Given the description of an element on the screen output the (x, y) to click on. 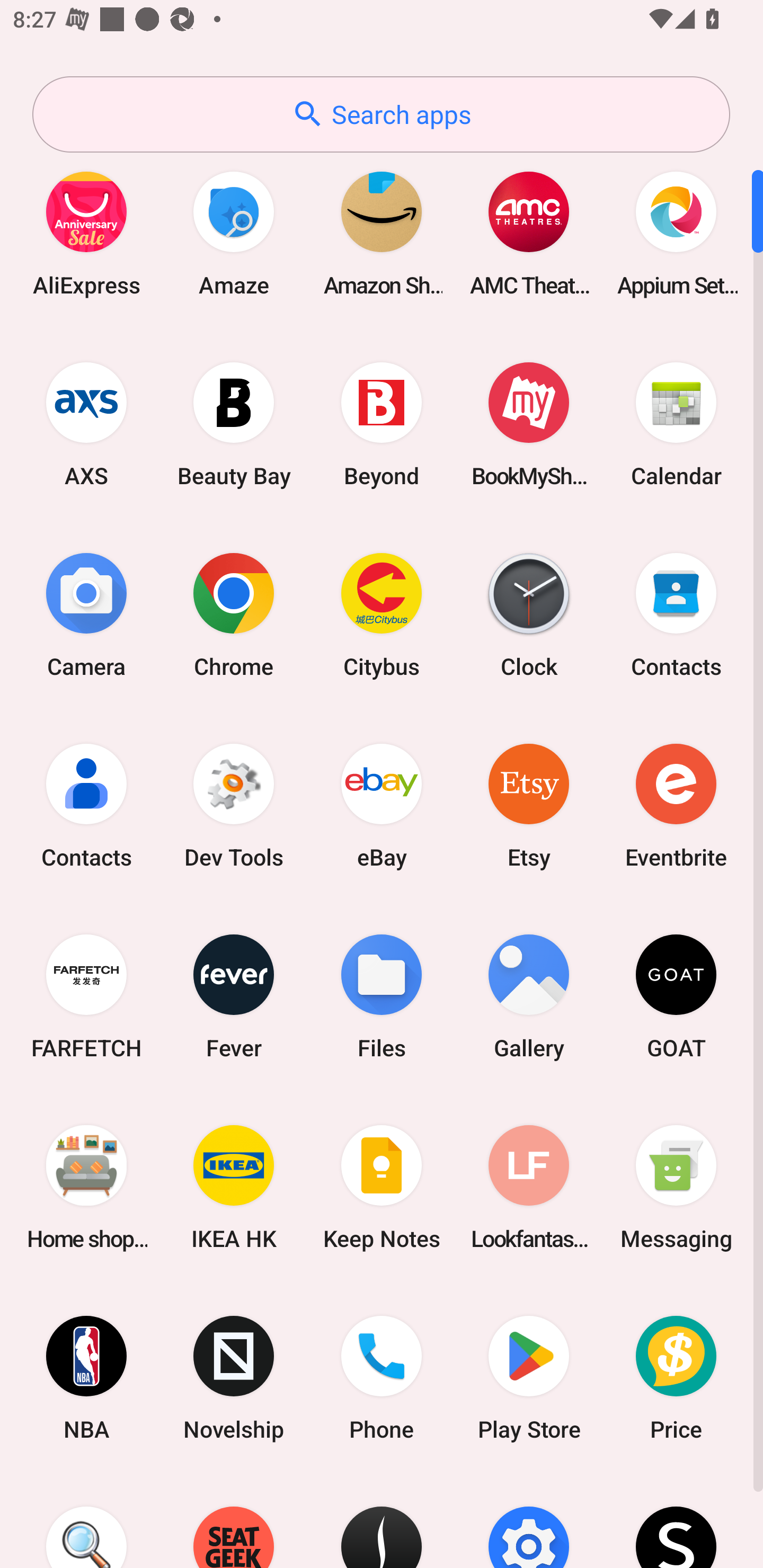
  Search apps (381, 114)
AliExpress (86, 233)
Amaze (233, 233)
Amazon Shopping (381, 233)
AMC Theatres (528, 233)
Appium Settings (676, 233)
AXS (86, 424)
Beauty Bay (233, 424)
Beyond (381, 424)
BookMyShow (528, 424)
Calendar (676, 424)
Camera (86, 614)
Chrome (233, 614)
Citybus (381, 614)
Clock (528, 614)
Contacts (676, 614)
Contacts (86, 805)
Dev Tools (233, 805)
eBay (381, 805)
Etsy (528, 805)
Eventbrite (676, 805)
FARFETCH (86, 996)
Fever (233, 996)
Files (381, 996)
Gallery (528, 996)
GOAT (676, 996)
Home shopping (86, 1186)
IKEA HK (233, 1186)
Keep Notes (381, 1186)
Lookfantastic (528, 1186)
Messaging (676, 1186)
NBA (86, 1377)
Novelship (233, 1377)
Phone (381, 1377)
Play Store (528, 1377)
Price (676, 1377)
